Given the description of an element on the screen output the (x, y) to click on. 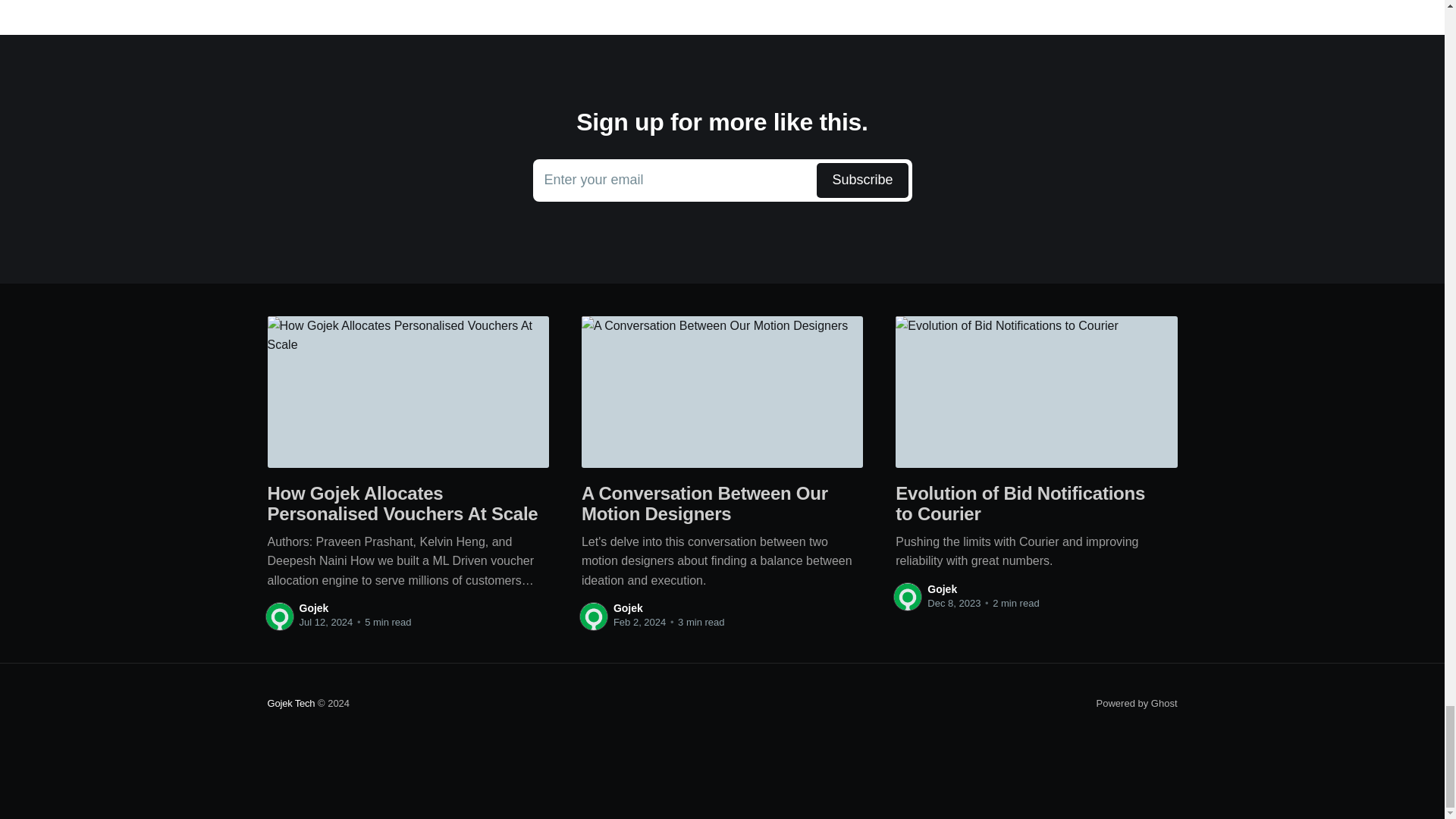
Gojek (721, 179)
Gojek (941, 589)
Powered by Ghost (627, 607)
Gojek (1136, 703)
Gojek Tech (313, 607)
